Given the description of an element on the screen output the (x, y) to click on. 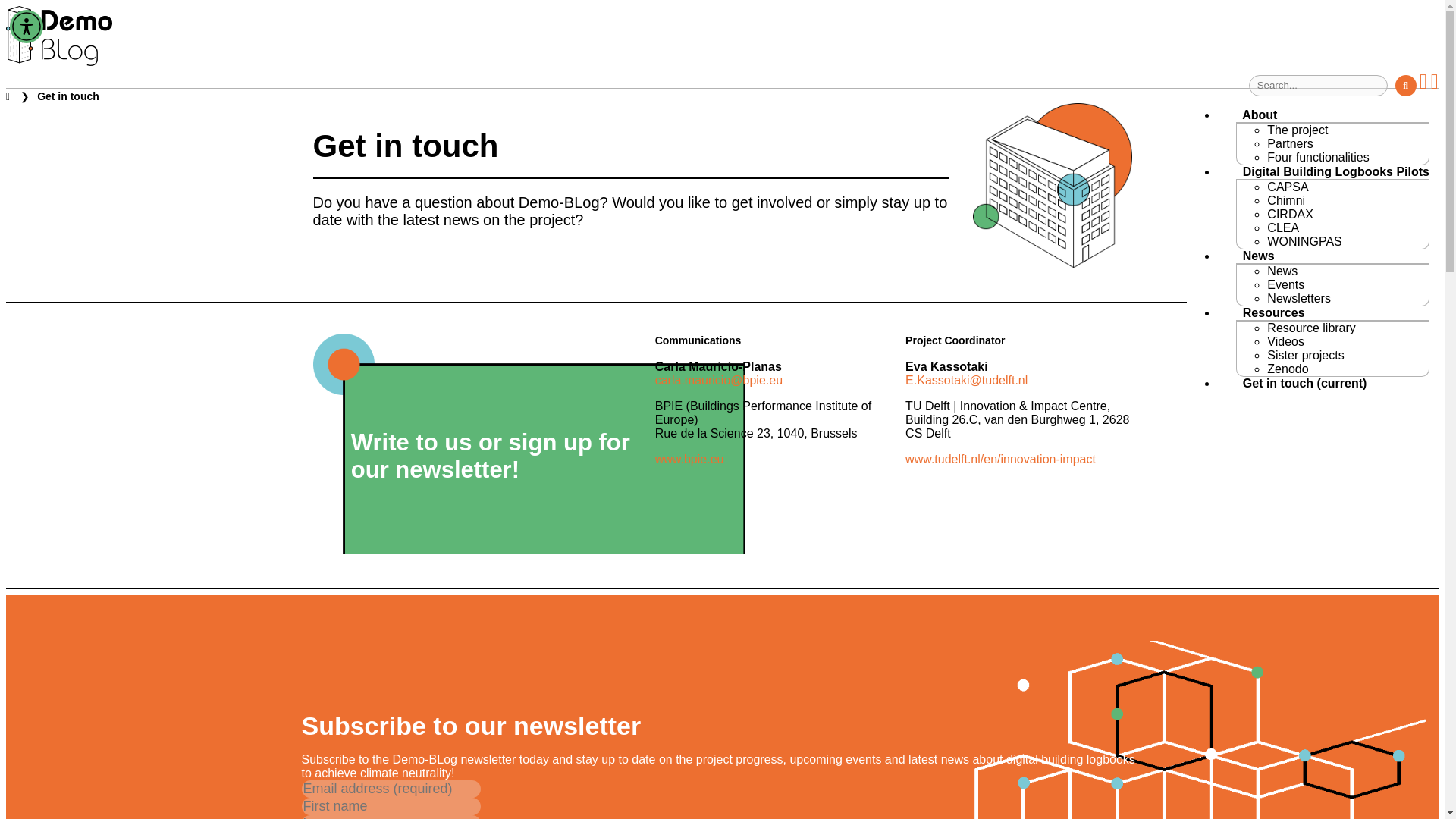
Search (1405, 84)
Four functionalities (1317, 155)
News (1281, 269)
Accessibility Menu (26, 26)
Videos (1285, 341)
Resources (1264, 312)
Chimni (1285, 200)
Resource library (1310, 327)
CIRDAX (1289, 214)
Events (1285, 283)
www.bpie.eu (689, 459)
The project (1296, 128)
Partners (1289, 142)
CLEA (1282, 227)
Sister projects (1304, 354)
